Given the description of an element on the screen output the (x, y) to click on. 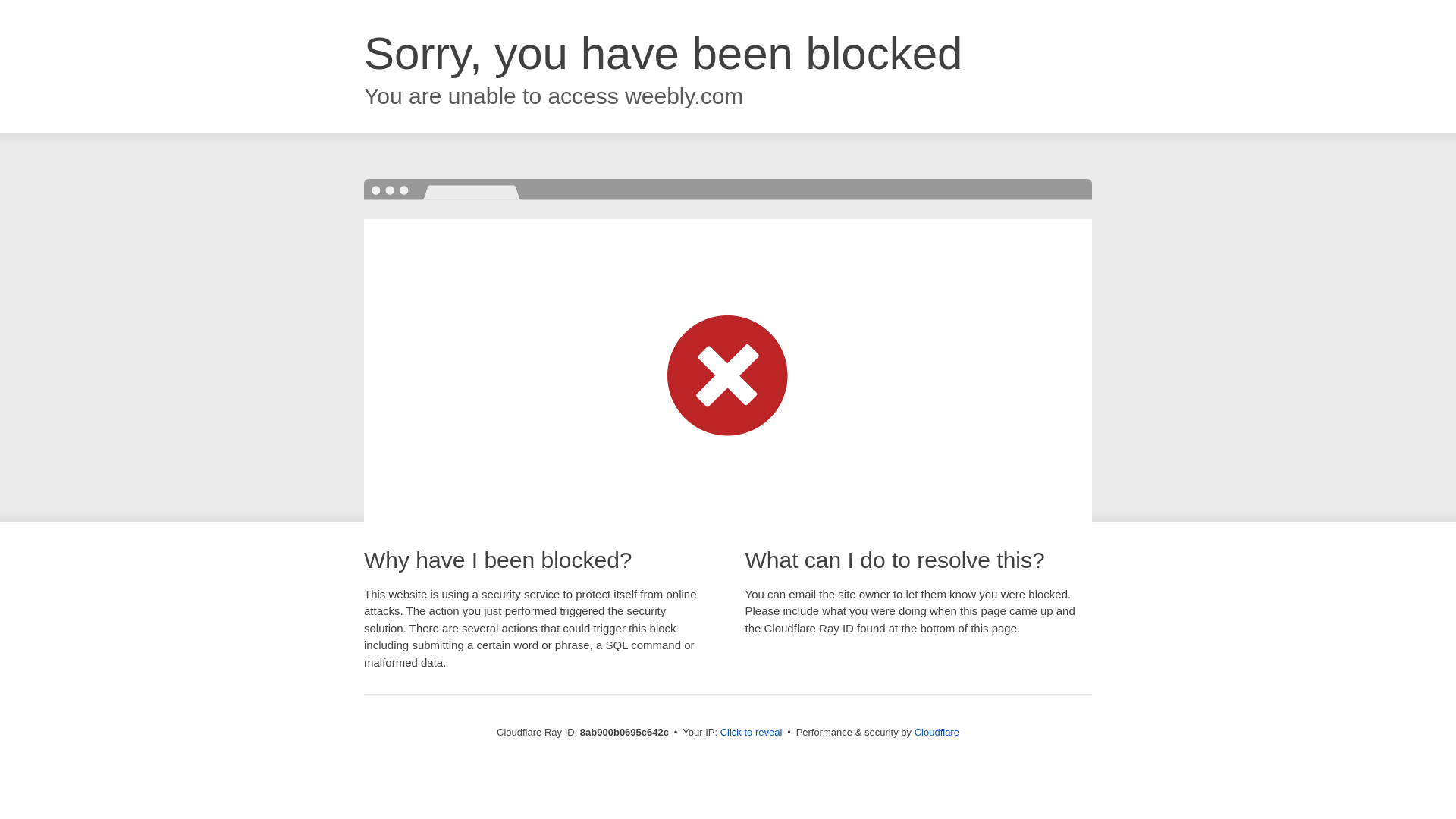
Cloudflare (936, 731)
Click to reveal (751, 732)
